Given the description of an element on the screen output the (x, y) to click on. 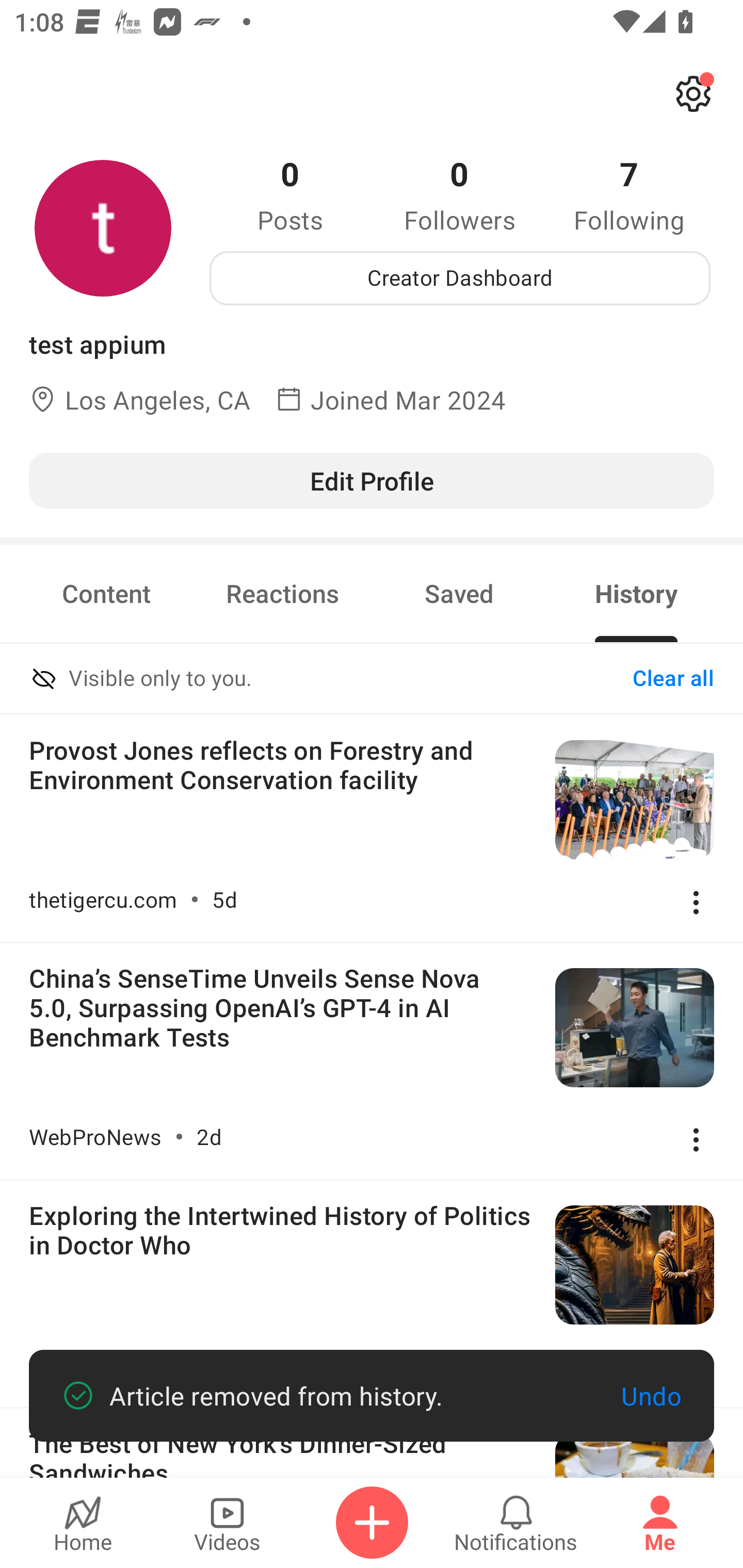
0 Followers (459, 194)
7 Following (629, 194)
Creator Dashboard (459, 277)
Edit Profile (371, 480)
Content (105, 593)
Reactions (282, 593)
Saved (459, 593)
Visible only to you. Clear all (371, 679)
Clear all (673, 678)
Undo (651, 1395)
Home (83, 1522)
Videos (227, 1522)
Notifications (516, 1522)
